Given the description of an element on the screen output the (x, y) to click on. 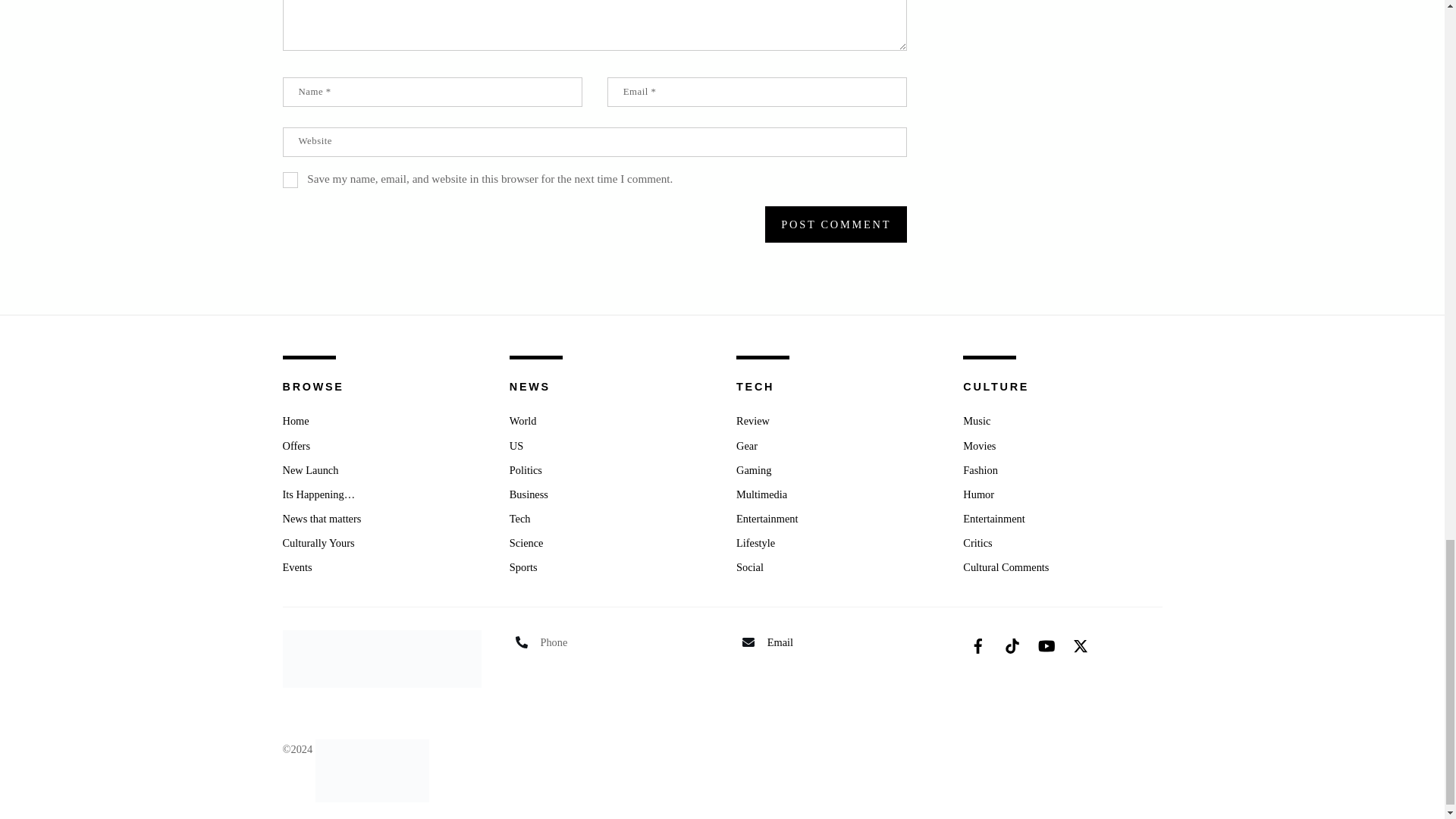
PlutonicTech (372, 748)
Post Comment (836, 224)
yes (290, 179)
Plutonic Logo (372, 770)
Post Comment (836, 224)
logo (381, 658)
